Given the description of an element on the screen output the (x, y) to click on. 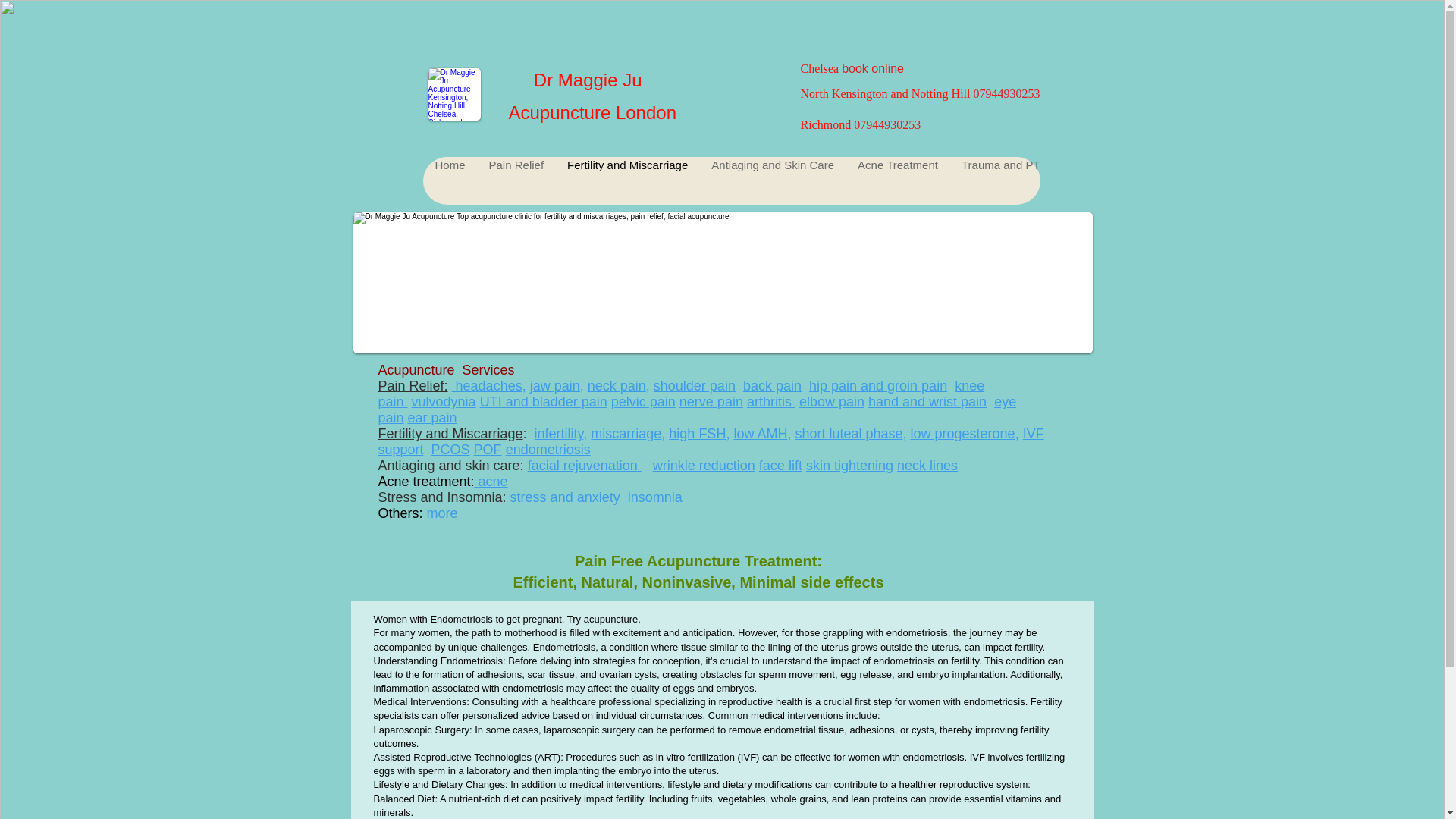
Pain Relief (516, 180)
Fertility and Miscarriage (626, 180)
Home (450, 180)
book online  (874, 68)
